Given the description of an element on the screen output the (x, y) to click on. 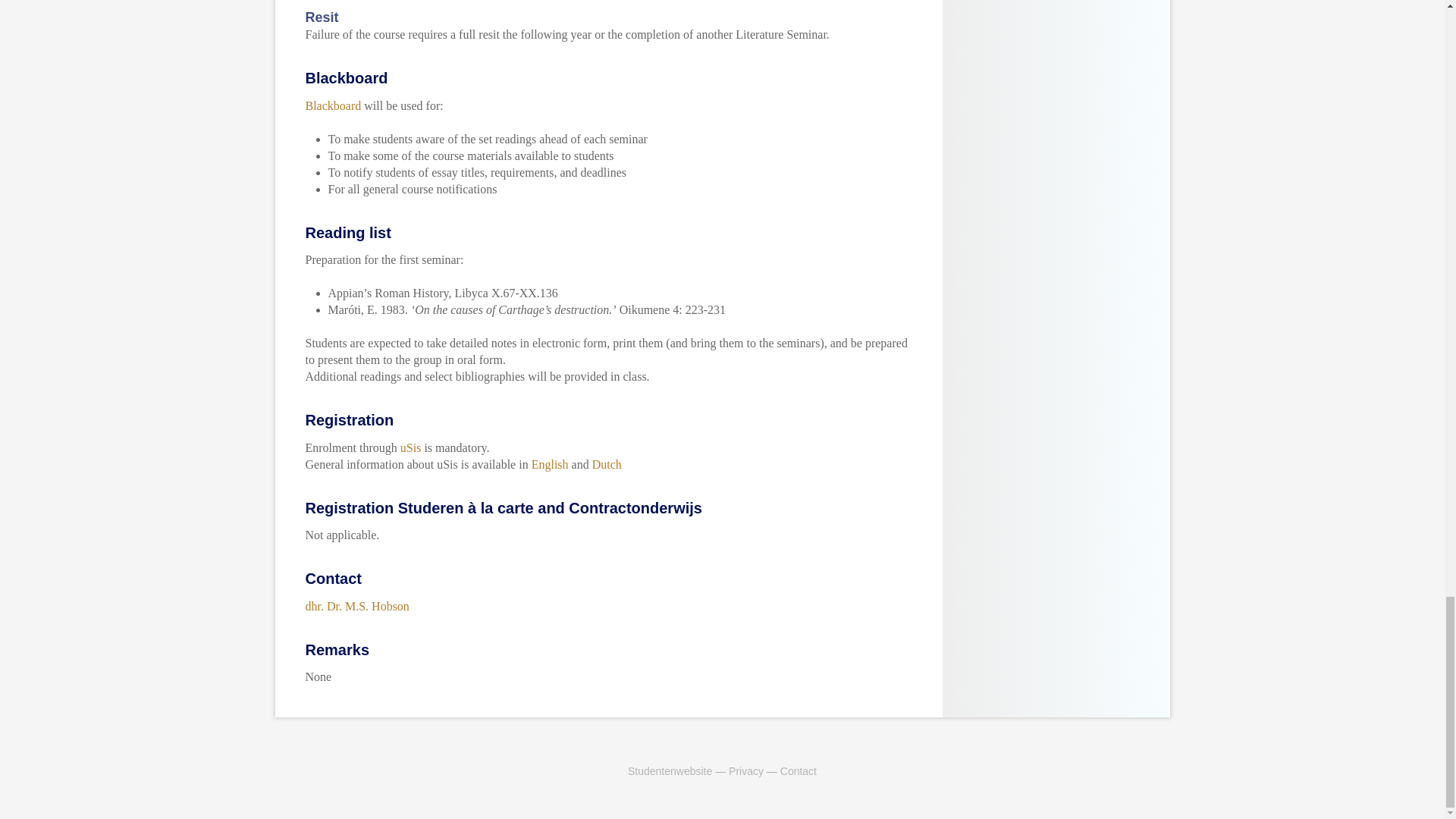
Dutch (606, 463)
English (550, 463)
uSis (411, 447)
Privacy (745, 770)
Studentenwebsite (669, 770)
dhr. Dr. M.S. Hobson (356, 605)
Blackboard (332, 105)
Contact (798, 770)
